Given the description of an element on the screen output the (x, y) to click on. 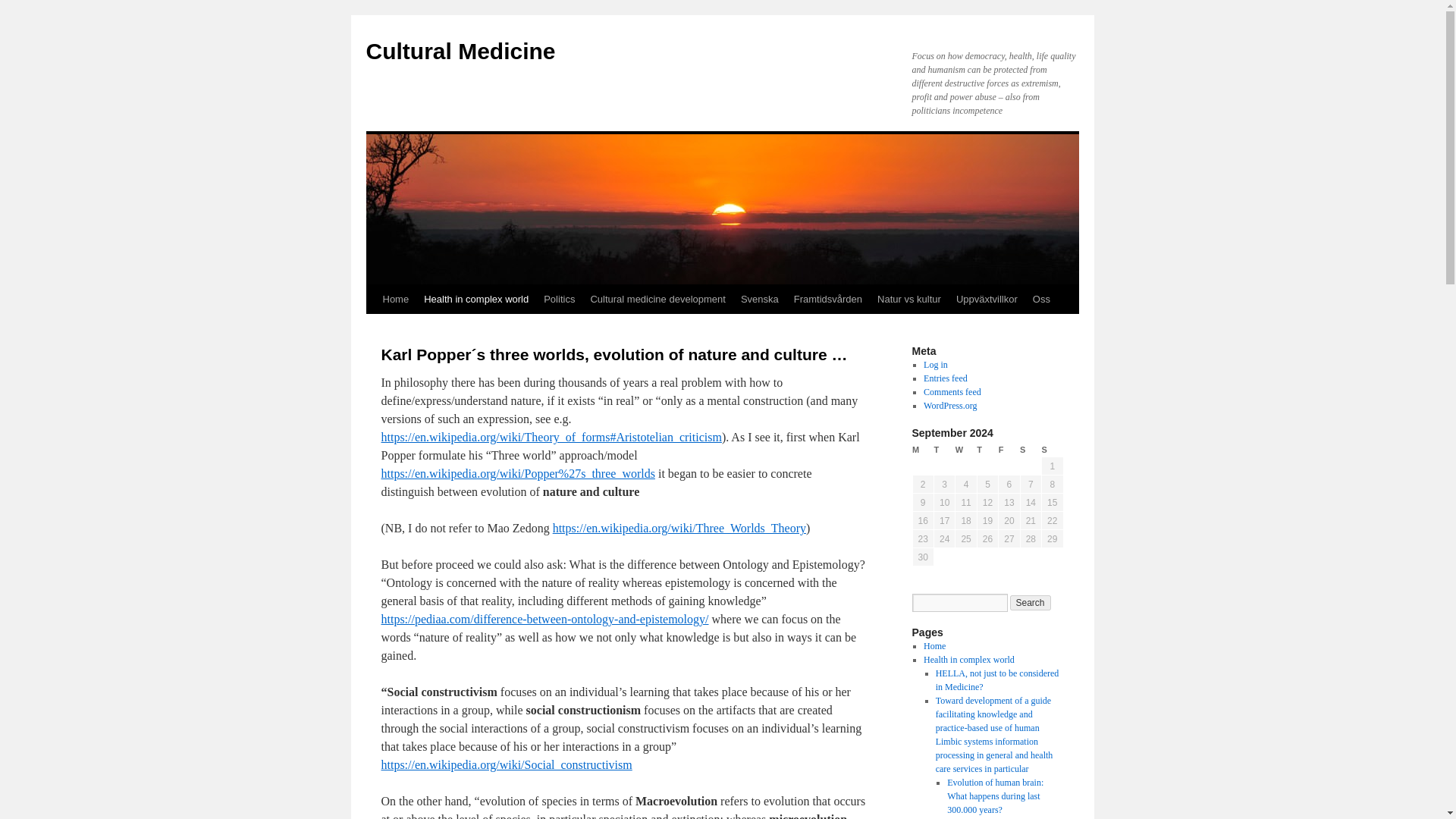
Politics (558, 299)
Search (1030, 602)
Home (395, 299)
Thursday (986, 450)
Sunday (1052, 450)
Saturday (1030, 450)
Cultural medicine development (657, 299)
Wednesday (965, 450)
Tuesday (944, 450)
Cultural Medicine (459, 50)
